Given the description of an element on the screen output the (x, y) to click on. 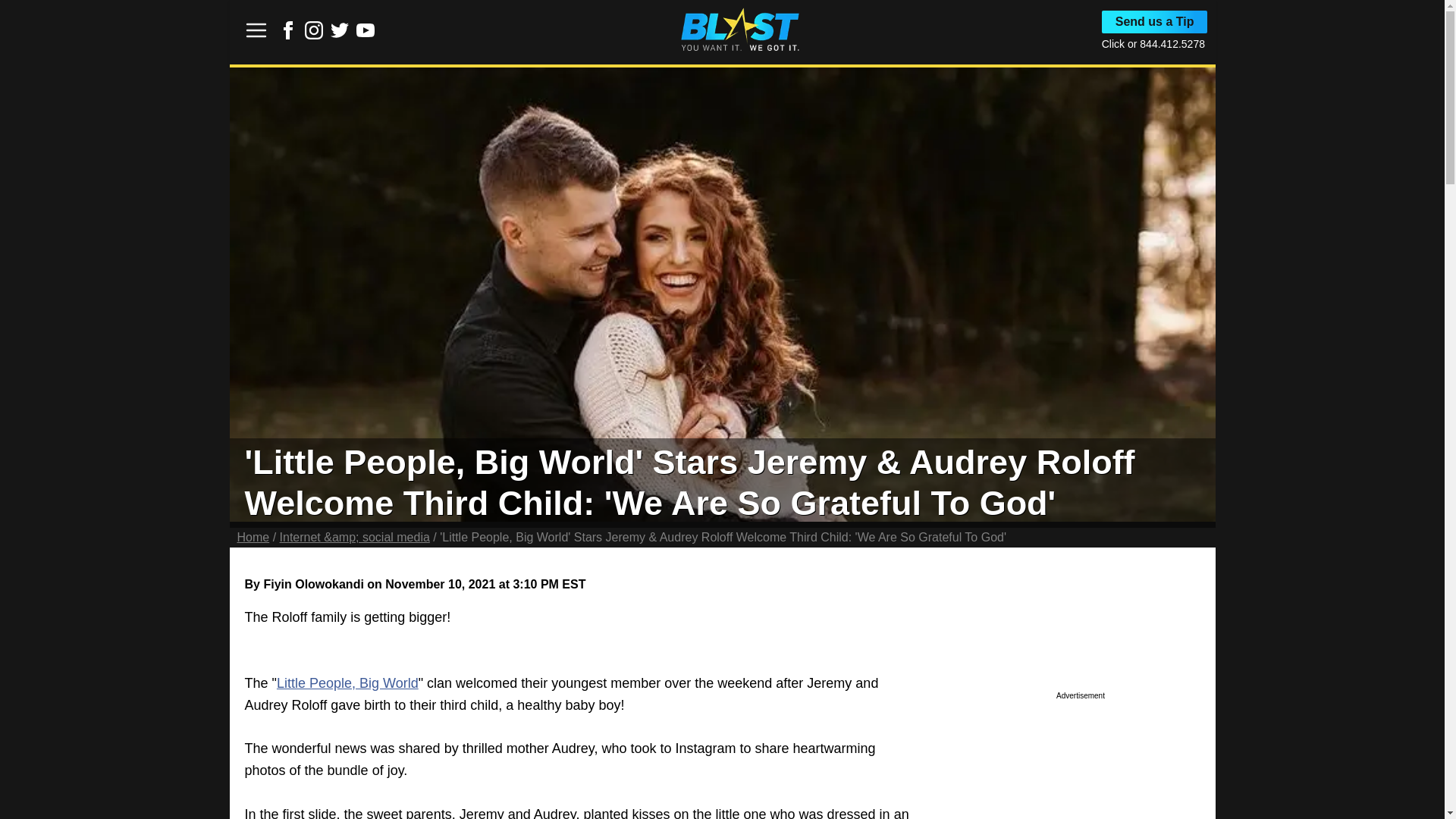
Fiyin Olowokandi (312, 584)
Click or 844.412.5278 (1153, 43)
Link to Instagram (313, 30)
Link to Instagram (313, 34)
Link to Twitter (339, 34)
Link to Youtube (365, 30)
Little People, Big World (347, 683)
Link to Facebook (288, 34)
Send us a Tip (1155, 21)
Link to Facebook (288, 30)
Link to Twitter (339, 30)
Home (252, 536)
Link to Youtube (365, 34)
